Given the description of an element on the screen output the (x, y) to click on. 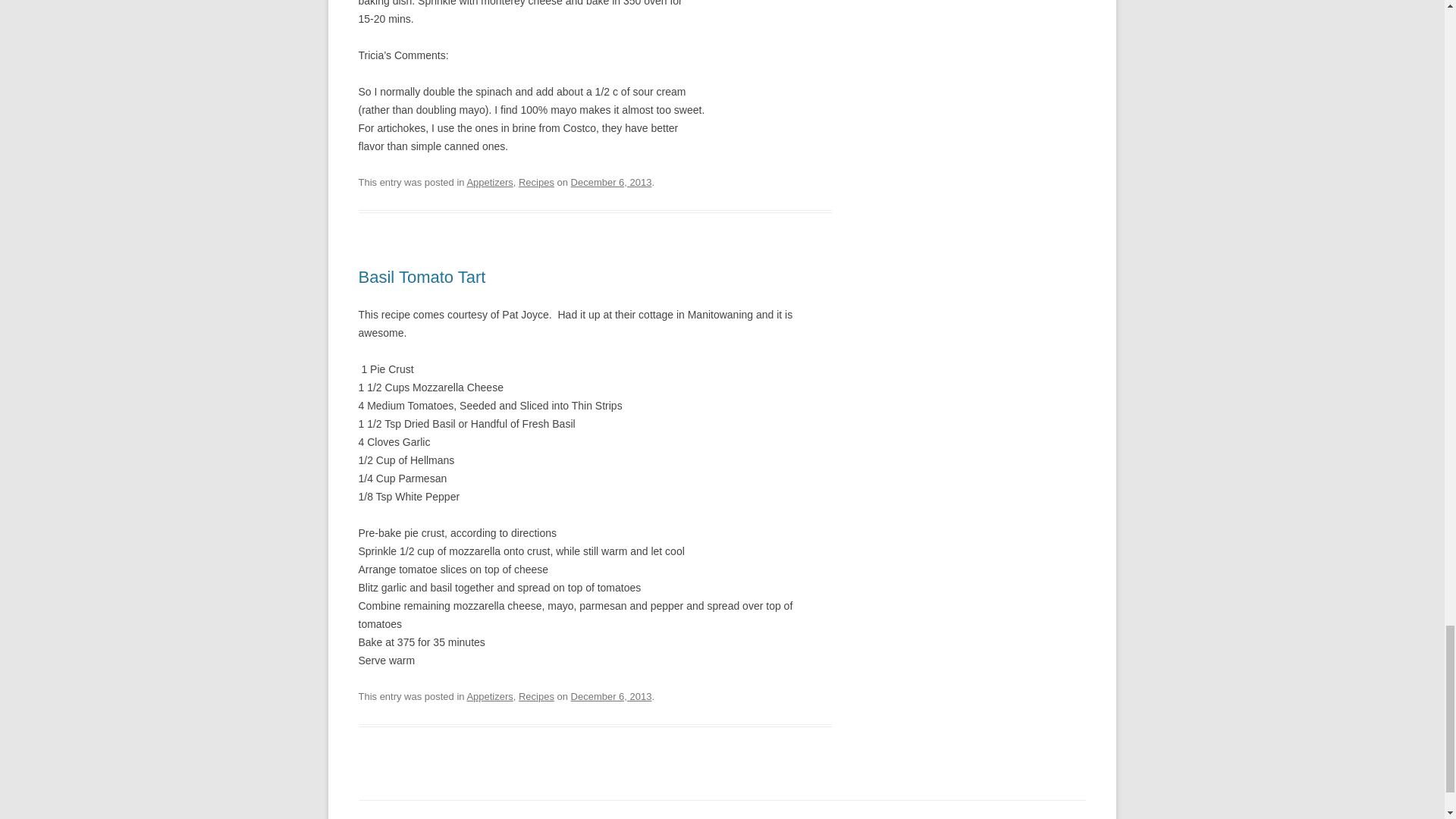
December 6, 2013 (611, 696)
9:49 pm (611, 696)
Appetizers (488, 696)
Recipes (536, 182)
Recipes (536, 696)
December 6, 2013 (611, 182)
9:52 pm (611, 182)
Basil Tomato Tart (421, 276)
Appetizers (488, 182)
